Given the description of an element on the screen output the (x, y) to click on. 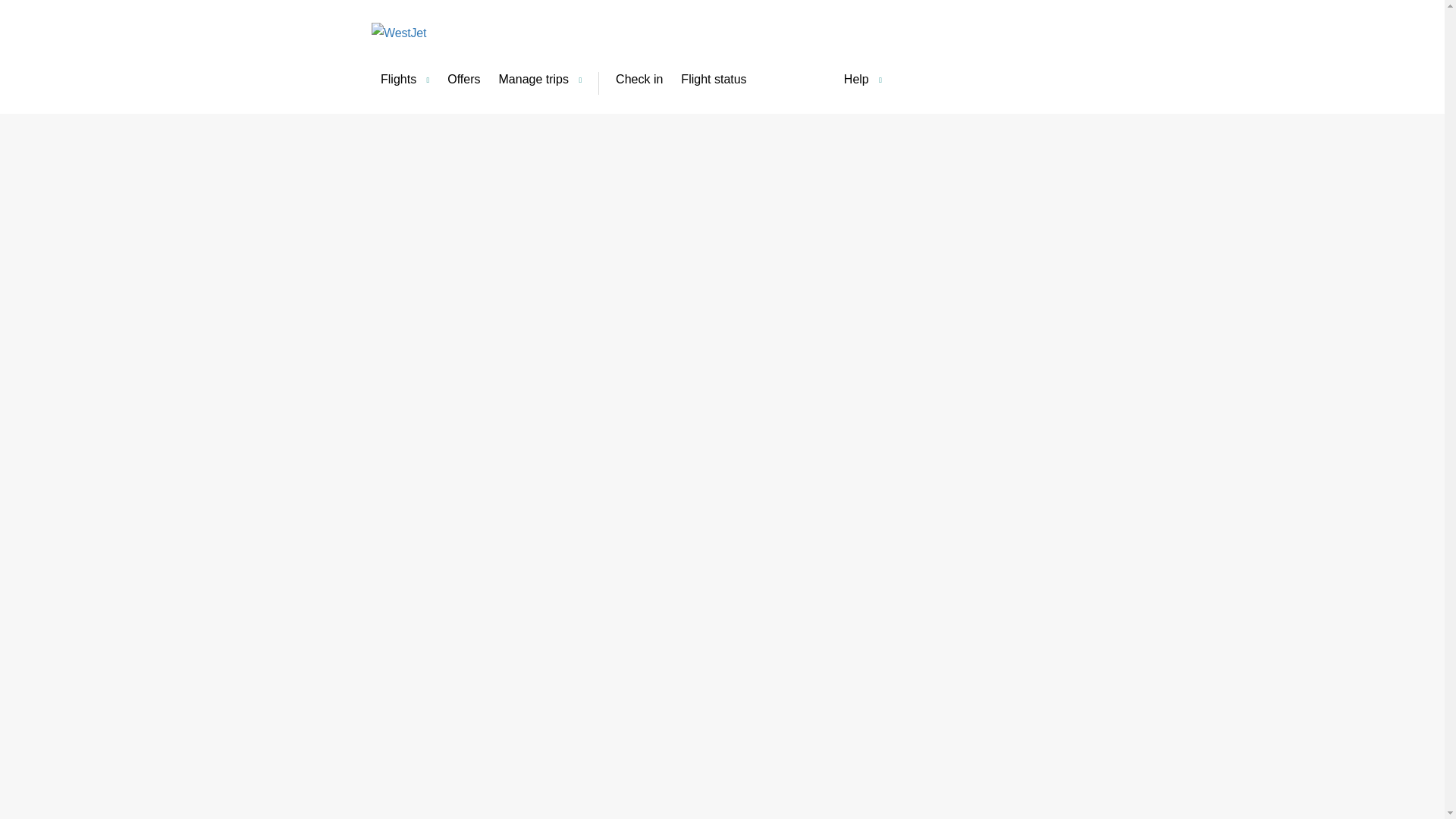
Offers (463, 79)
Flights (404, 79)
Flight status (713, 79)
Check in (639, 79)
Navigate to the homepage (443, 37)
Manage trips (540, 79)
Help (862, 79)
